Given the description of an element on the screen output the (x, y) to click on. 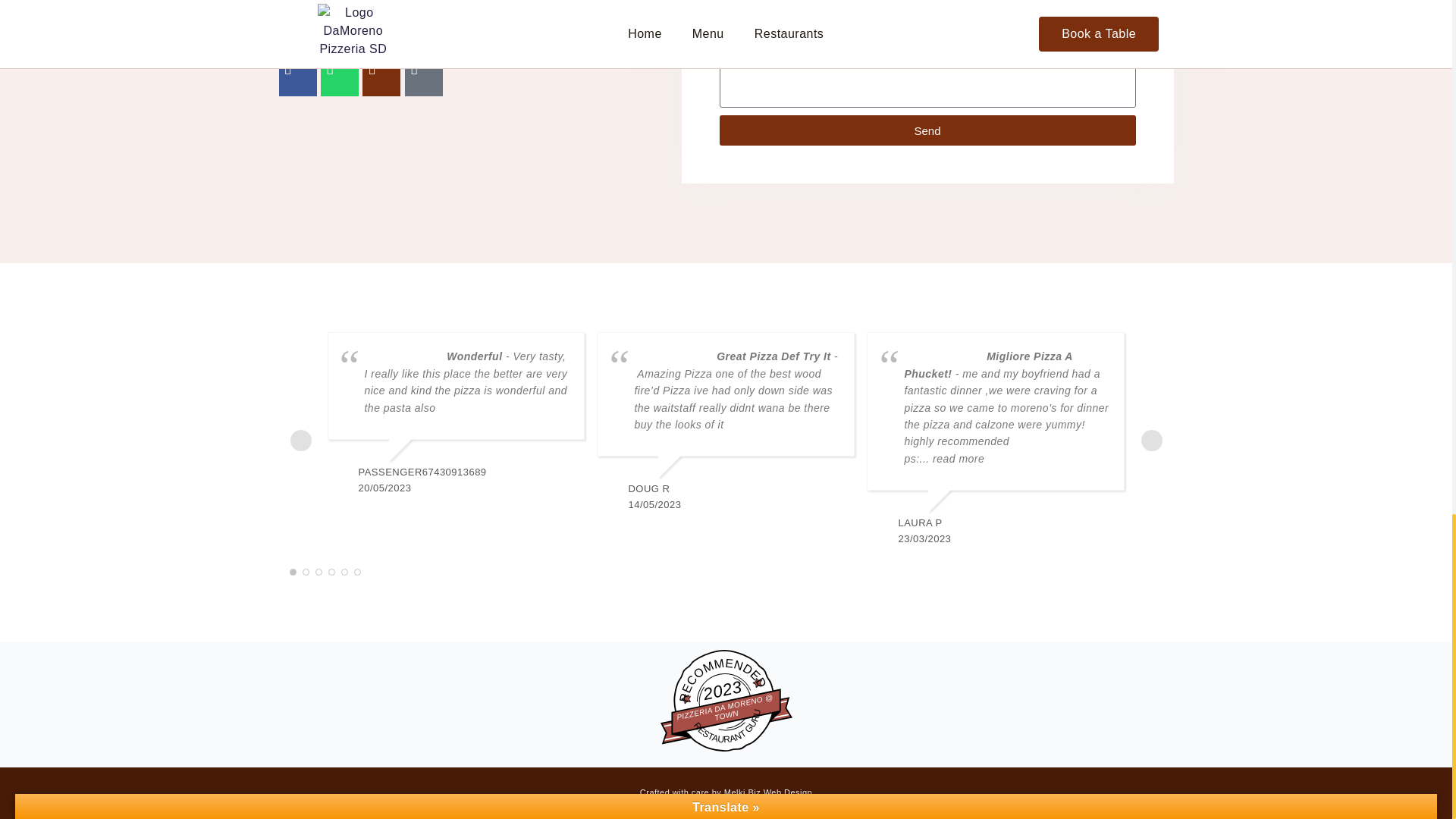
You can contact us by: (354, 30)
RESTAURANT GURU (723, 705)
Melki.Biz Web Design (767, 791)
RECOMMENDED (724, 704)
